Given the description of an element on the screen output the (x, y) to click on. 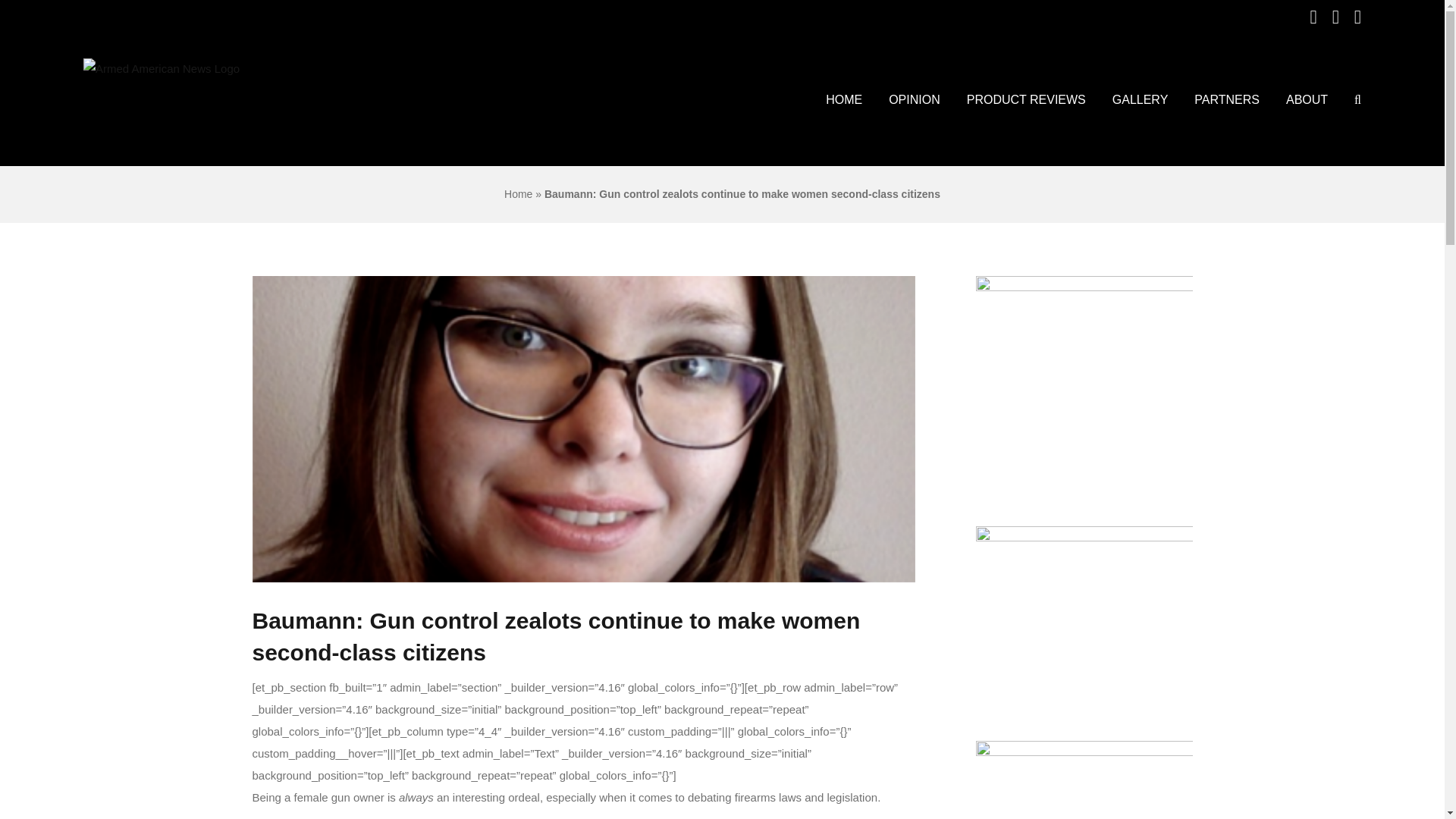
Home (517, 193)
PRODUCT REVIEWS (1026, 100)
